Given the description of an element on the screen output the (x, y) to click on. 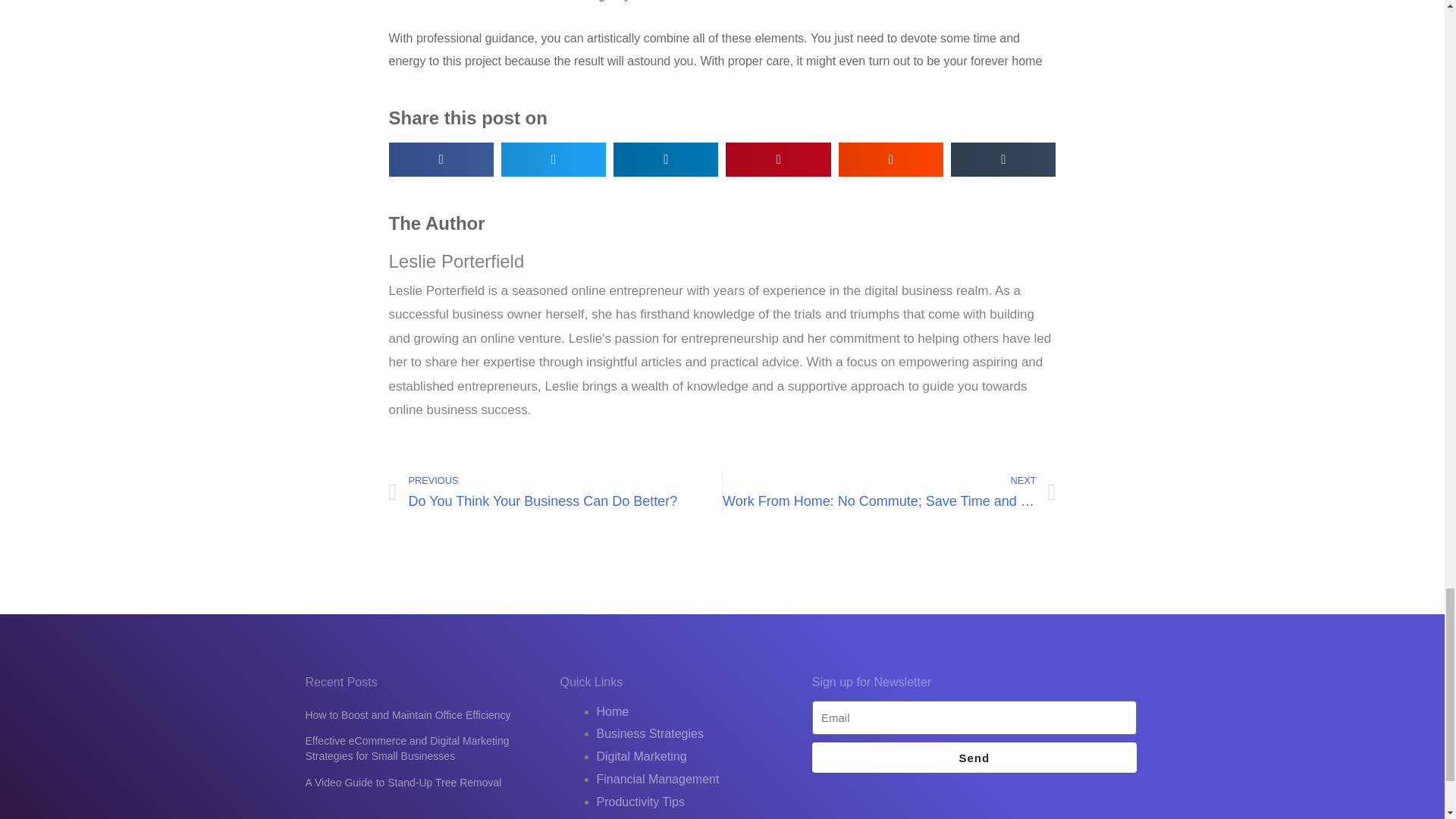
Productivity Tips (639, 801)
Financial Management (657, 779)
Send (974, 757)
A Video Guide to Stand-Up Tree Removal (889, 493)
Home (402, 782)
How to Boost and Maintain Office Efficiency (611, 711)
Digital Marketing (407, 715)
